Given the description of an element on the screen output the (x, y) to click on. 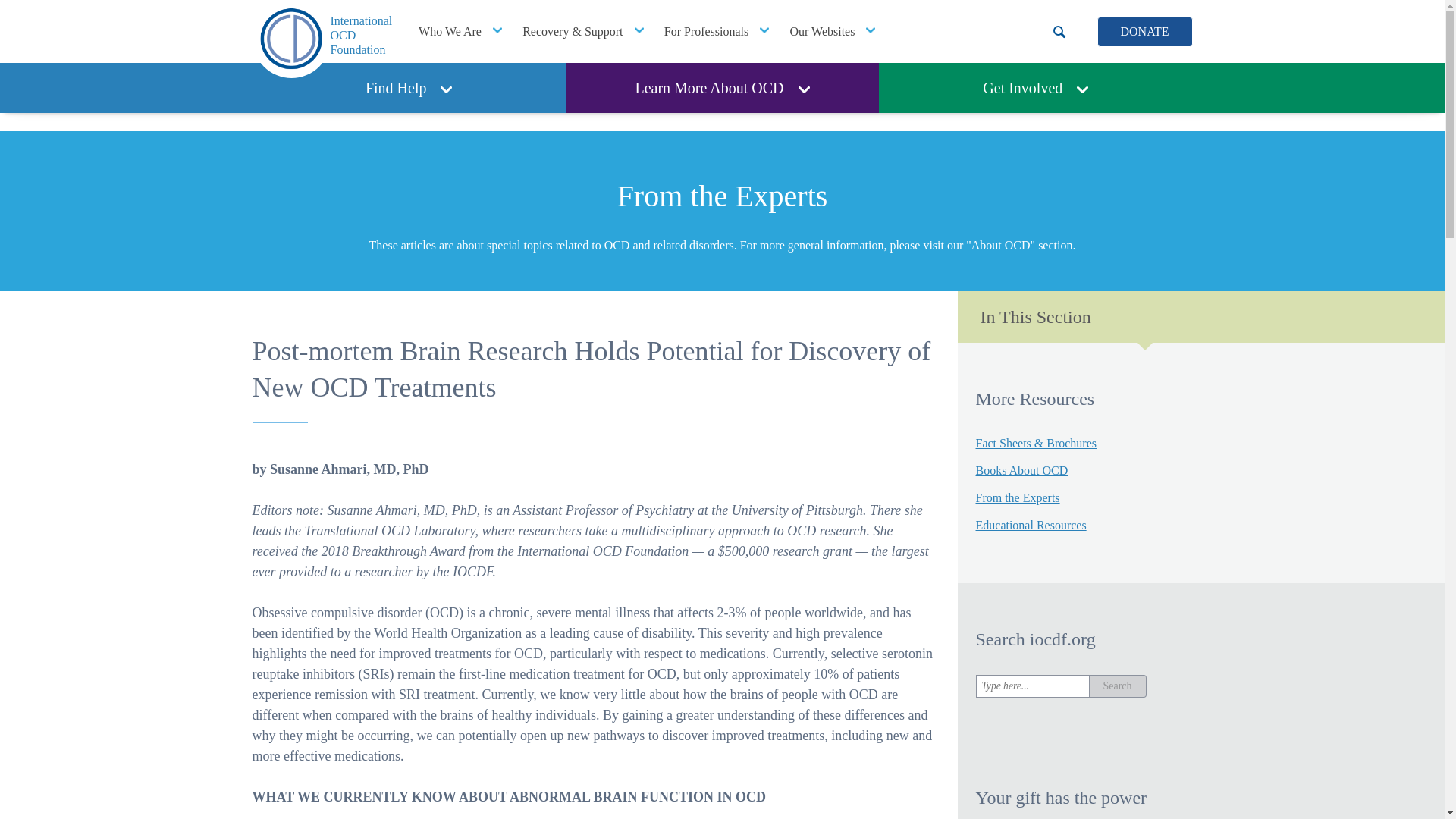
Our Websites (831, 31)
DONATE (1144, 31)
Search for: (1032, 685)
Search (1117, 685)
Our Network (321, 38)
Who We Are (831, 31)
For Professionals (459, 31)
Find Help (715, 31)
Search (407, 88)
